Given the description of an element on the screen output the (x, y) to click on. 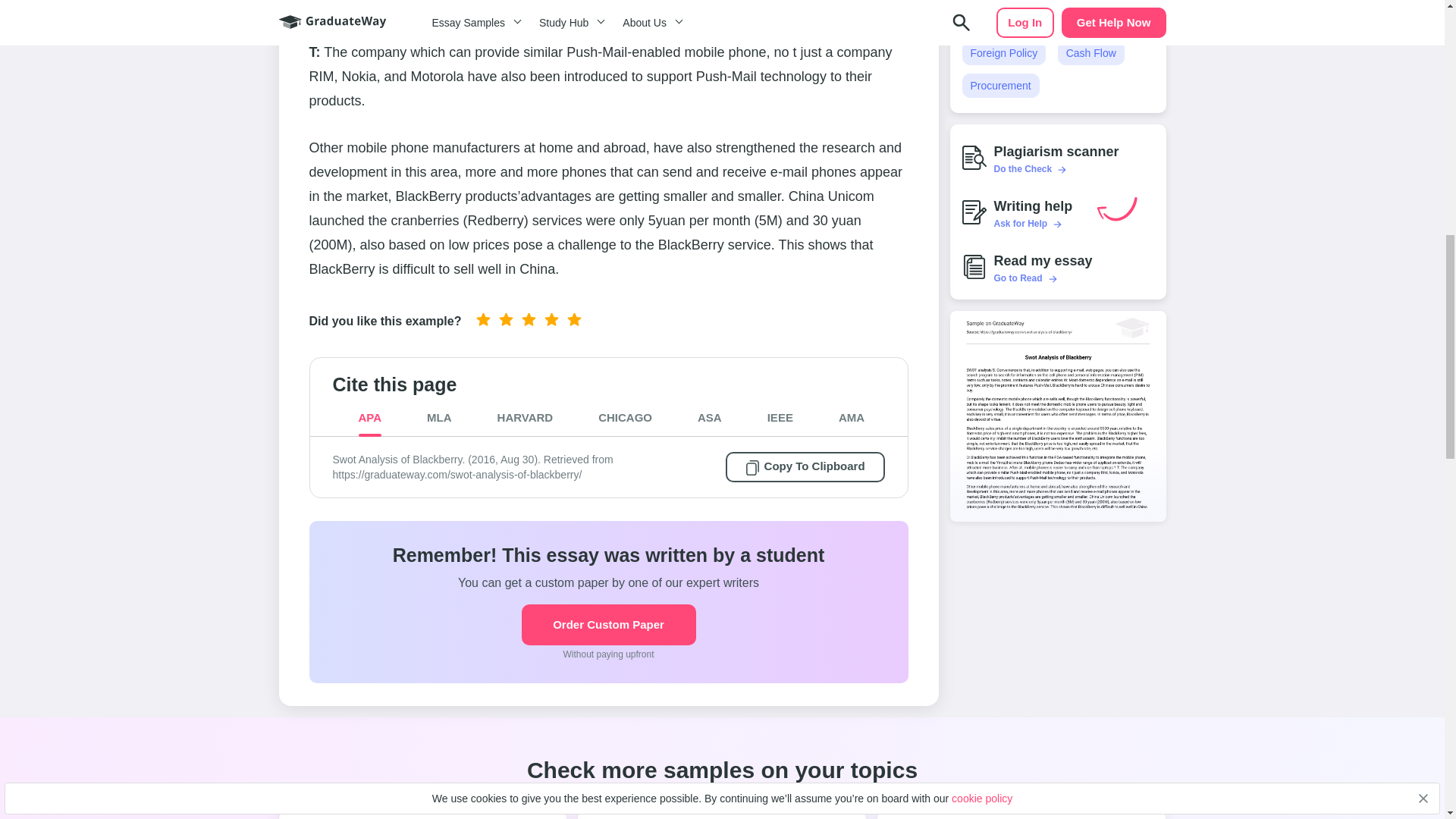
Swot Analysis of Blackberry (1057, 416)
